Given the description of an element on the screen output the (x, y) to click on. 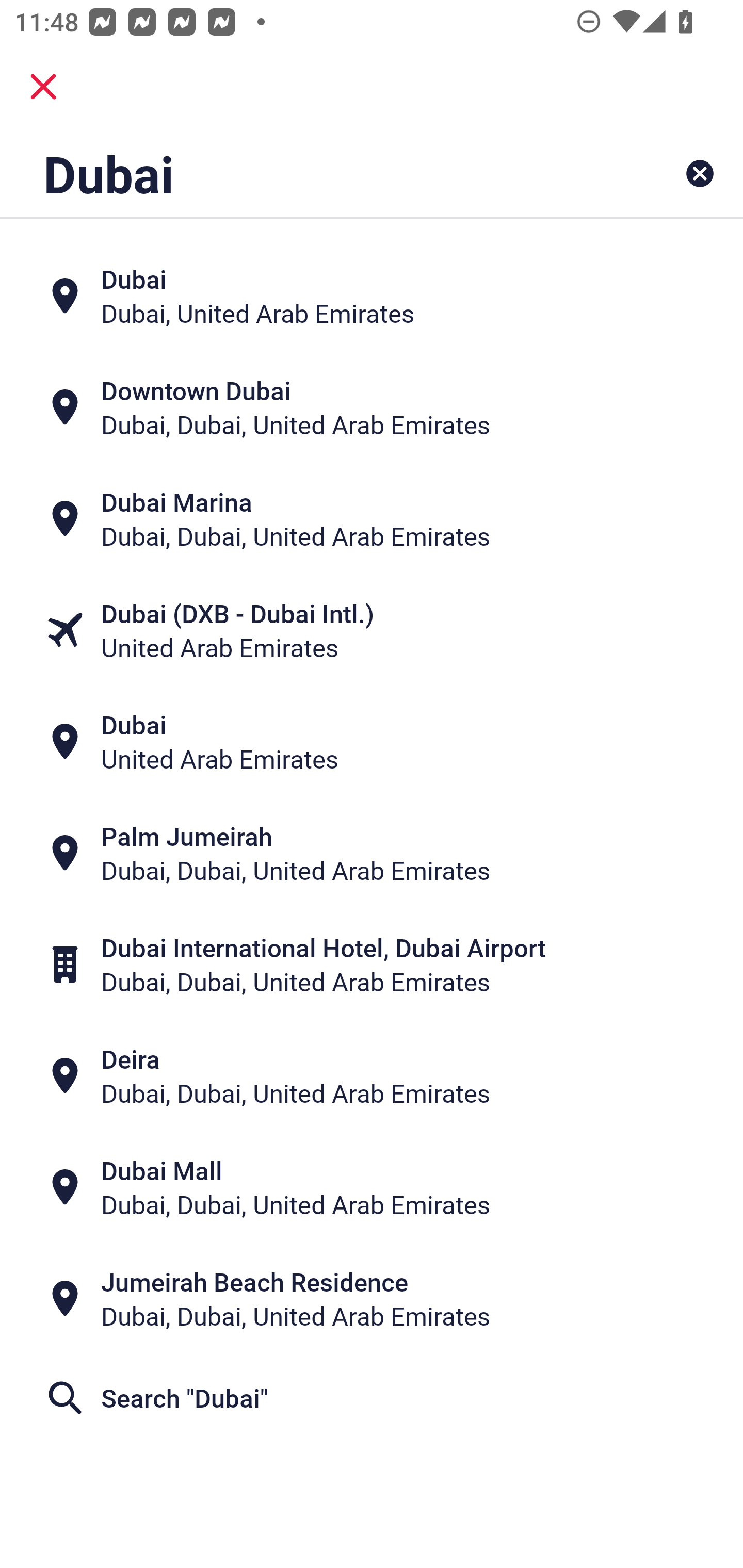
close. (43, 86)
Clear (699, 173)
Dubai (306, 173)
Dubai Dubai, United Arab Emirates (371, 295)
Downtown Dubai Dubai, Dubai, United Arab Emirates (371, 406)
Dubai Marina Dubai, Dubai, United Arab Emirates (371, 517)
Dubai (DXB - Dubai Intl.) United Arab Emirates (371, 629)
Dubai United Arab Emirates (371, 742)
Palm Jumeirah Dubai, Dubai, United Arab Emirates (371, 853)
Deira Dubai, Dubai, United Arab Emirates (371, 1076)
Dubai Mall Dubai, Dubai, United Arab Emirates (371, 1187)
Search "Dubai" (371, 1397)
